Given the description of an element on the screen output the (x, y) to click on. 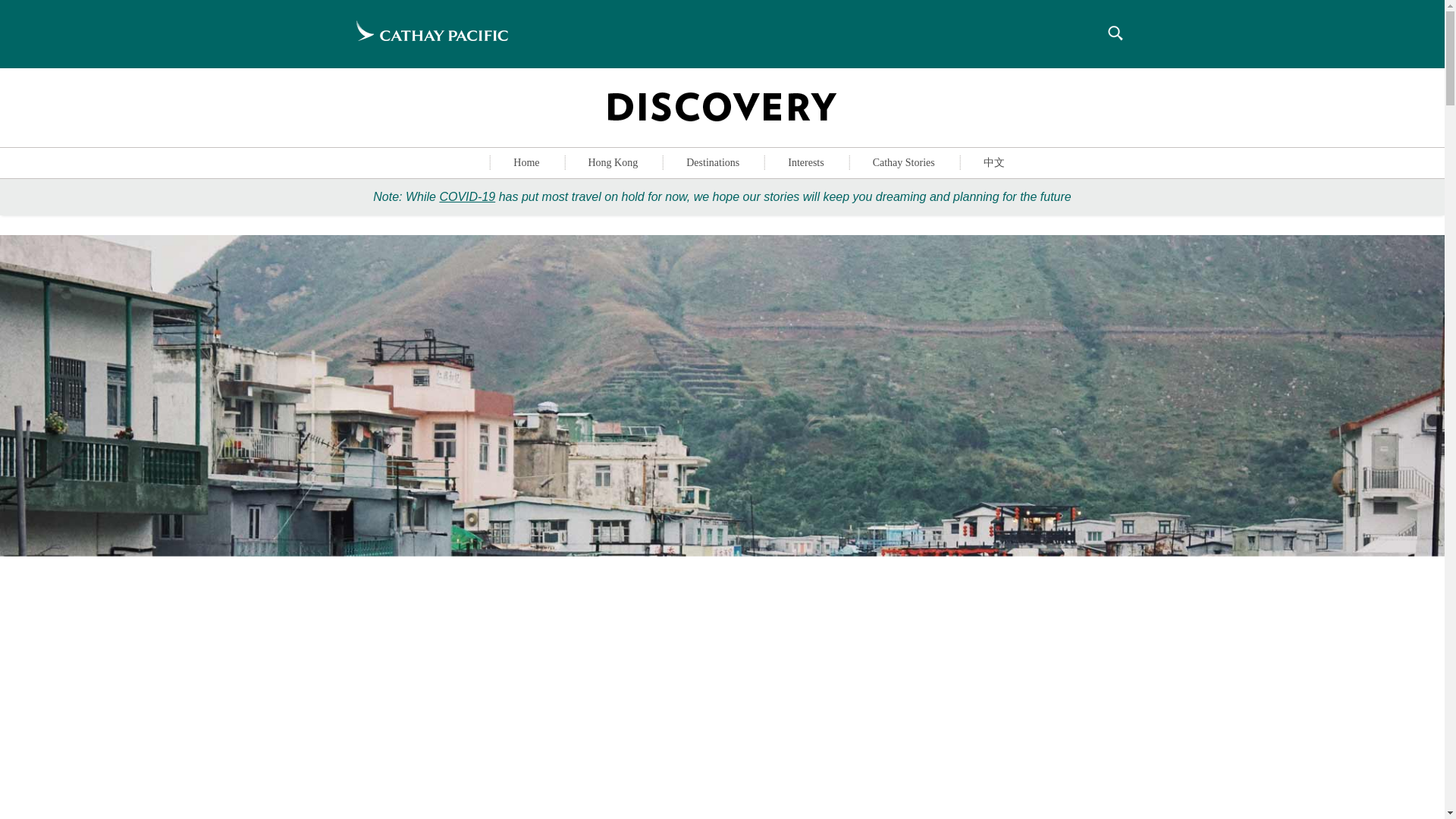
Destinations (712, 163)
Interests (804, 163)
Cathay Stories (903, 163)
COVID-19 (467, 196)
Home (526, 163)
Hong Kong (613, 163)
